Given the description of an element on the screen output the (x, y) to click on. 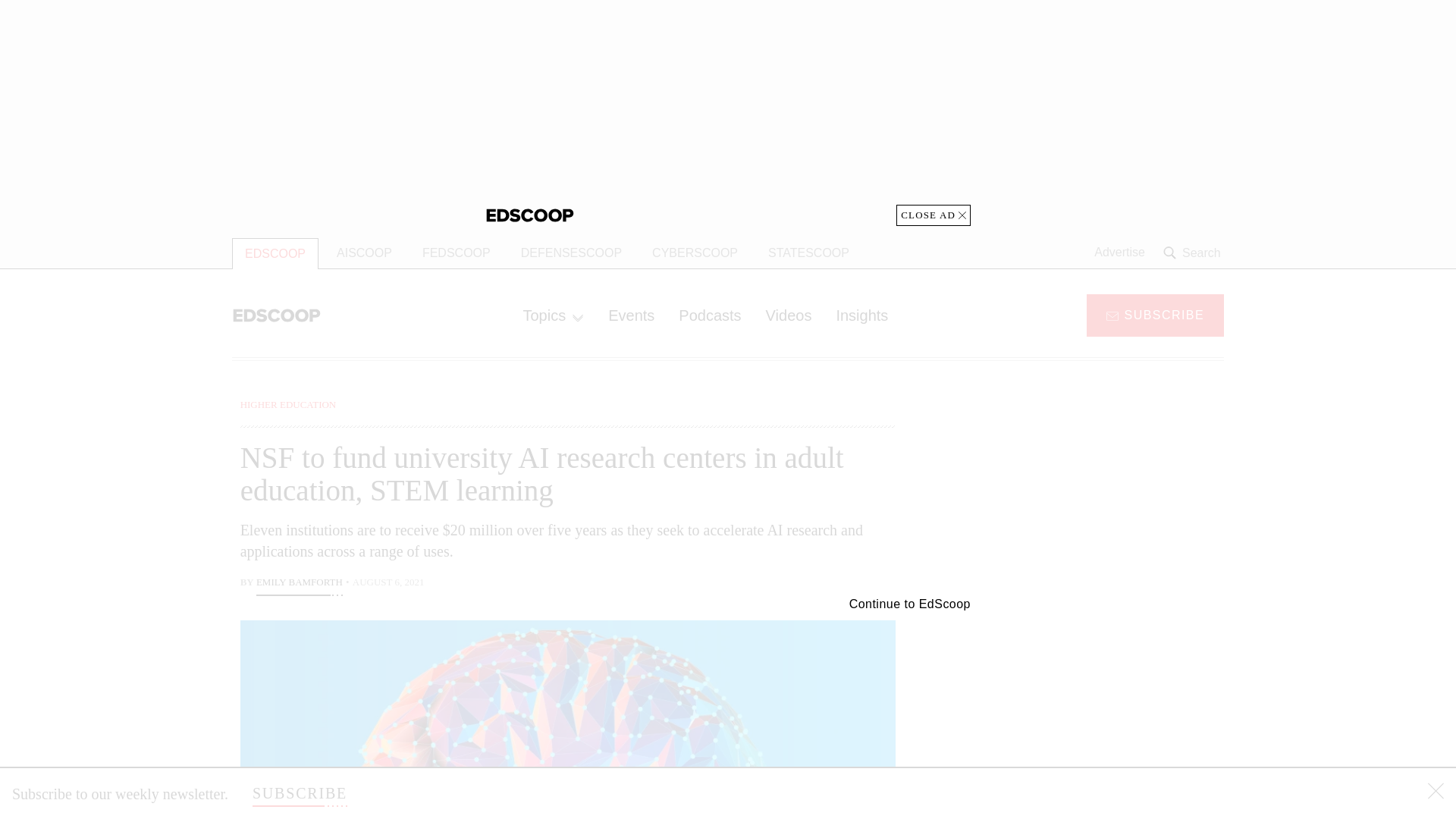
Insights (861, 315)
CYBERSCOOP (694, 253)
Events (630, 315)
SUBSCRIBE (299, 793)
Videos (789, 315)
Podcasts (709, 315)
STATESCOOP (808, 253)
Topics (553, 315)
